Given the description of an element on the screen output the (x, y) to click on. 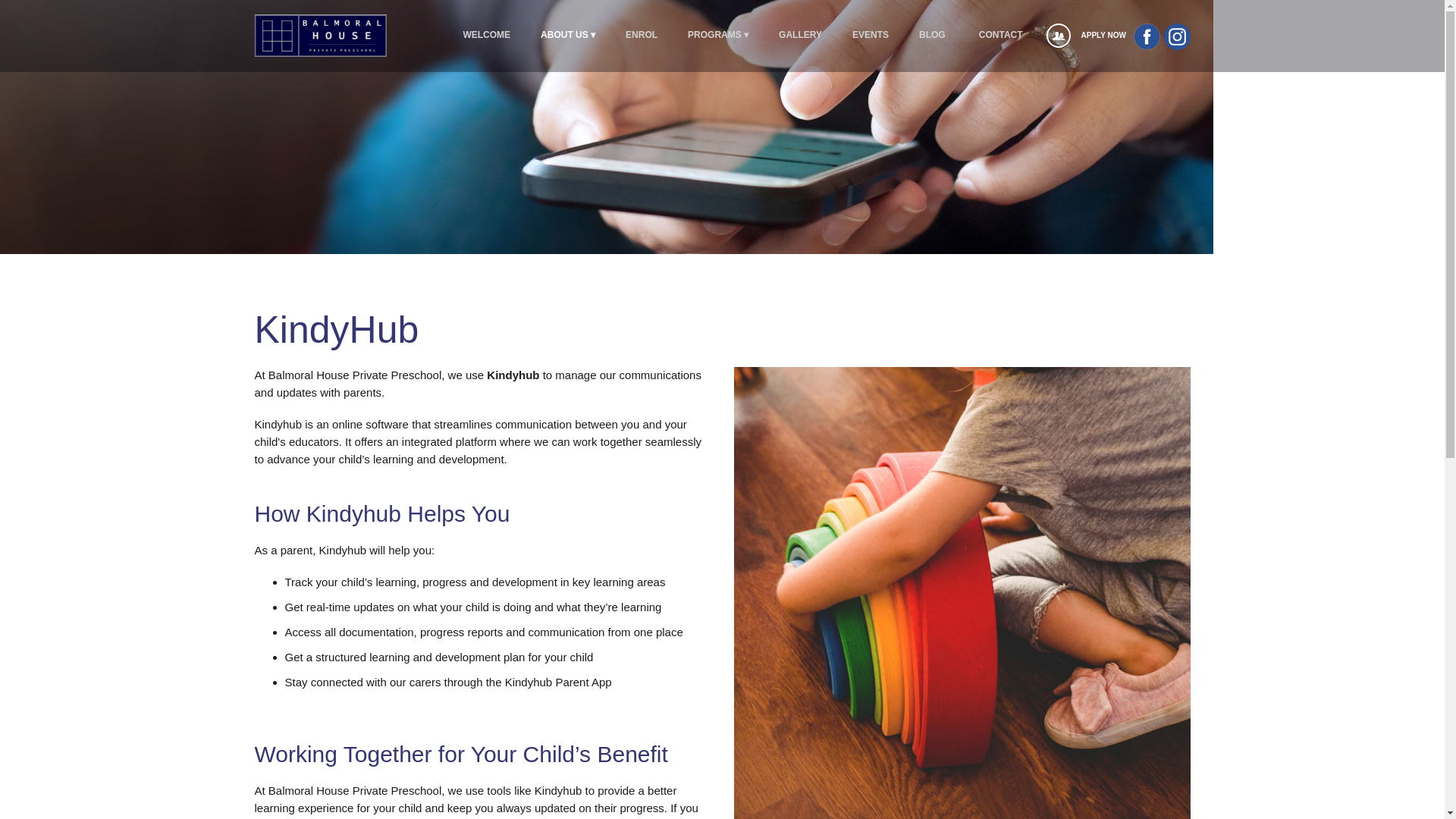
WELCOME (487, 34)
